Given the description of an element on the screen output the (x, y) to click on. 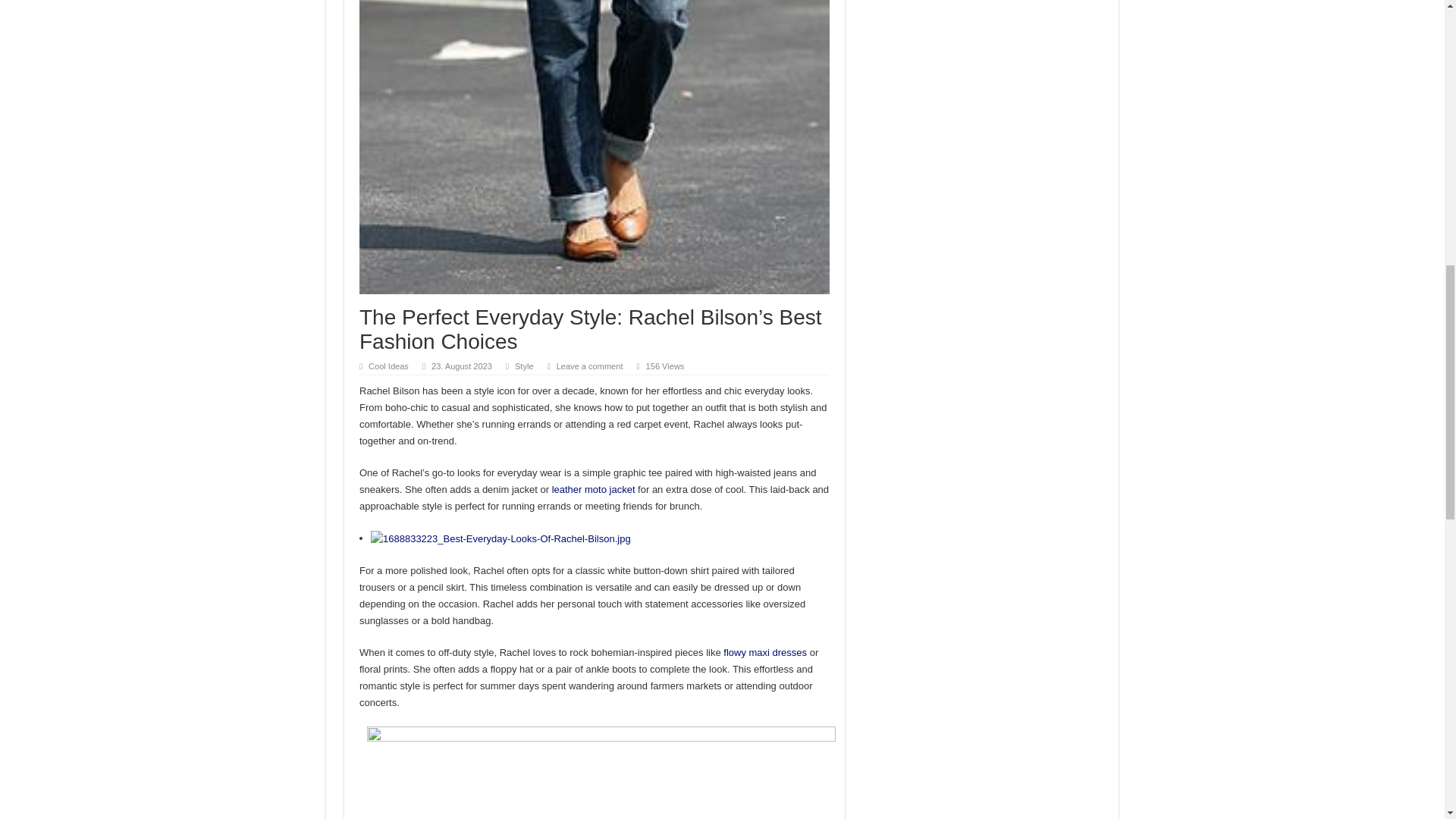
flowy maxi dresses (764, 652)
The Top Everyday Outfits Worn by Rachel Bilson (500, 538)
leather moto jacket (592, 489)
Leave a comment (589, 366)
Style (524, 366)
Chic Bohemian Fall Fashion Trends to Try Right Now (764, 652)
Cool Ideas (388, 366)
